Given the description of an element on the screen output the (x, y) to click on. 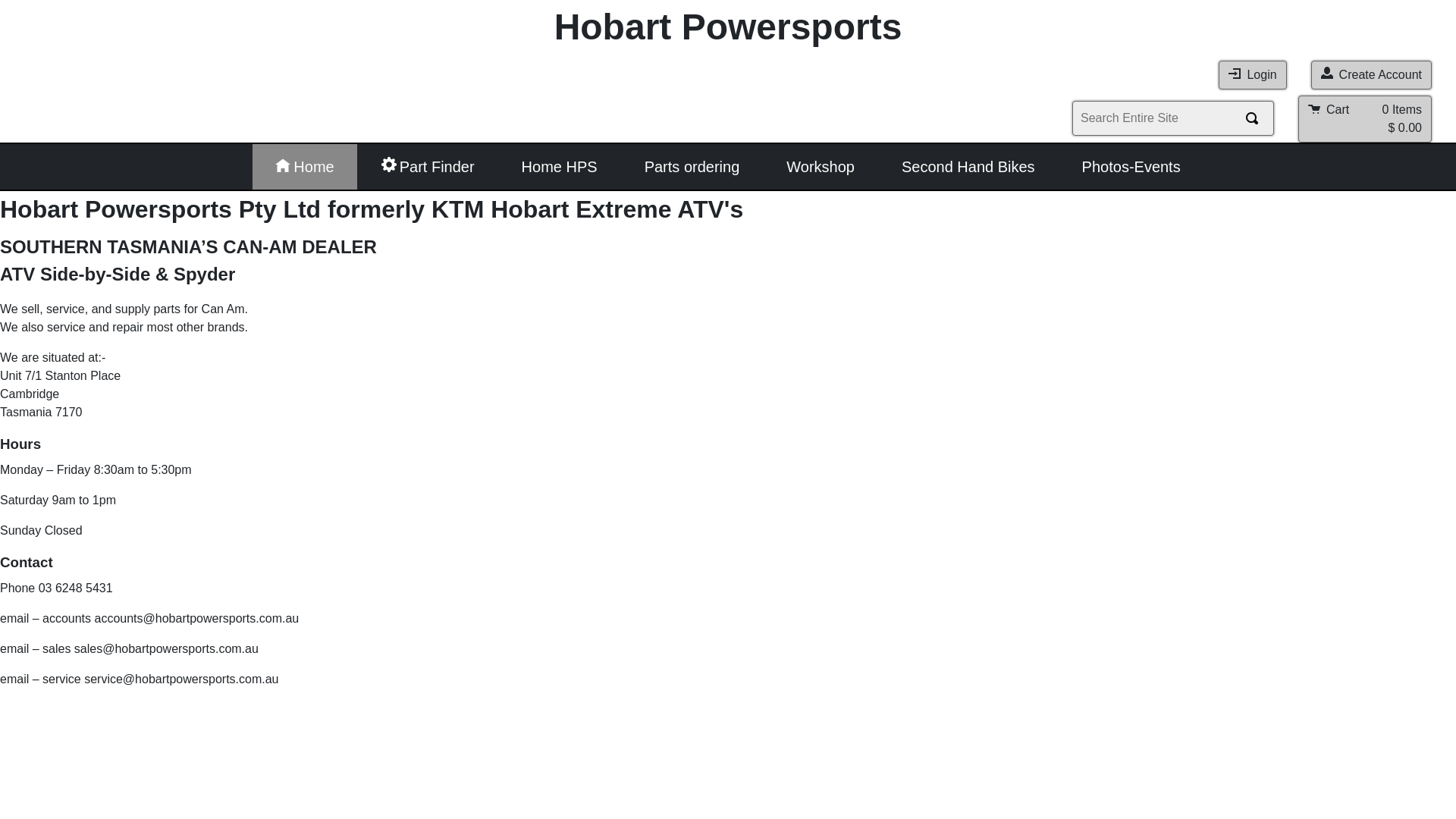
Create Account Element type: text (1371, 74)
Home HPS Element type: text (559, 166)
Home Element type: text (304, 166)
Workshop Element type: text (820, 166)
Second Hand Bikes Element type: text (967, 166)
Cart
0
0.00 Element type: text (1364, 118)
Parts ordering Element type: text (691, 166)
Login Element type: text (1252, 74)
Photos-Events Element type: text (1131, 166)
Part Finder Element type: text (427, 166)
